Given the description of an element on the screen output the (x, y) to click on. 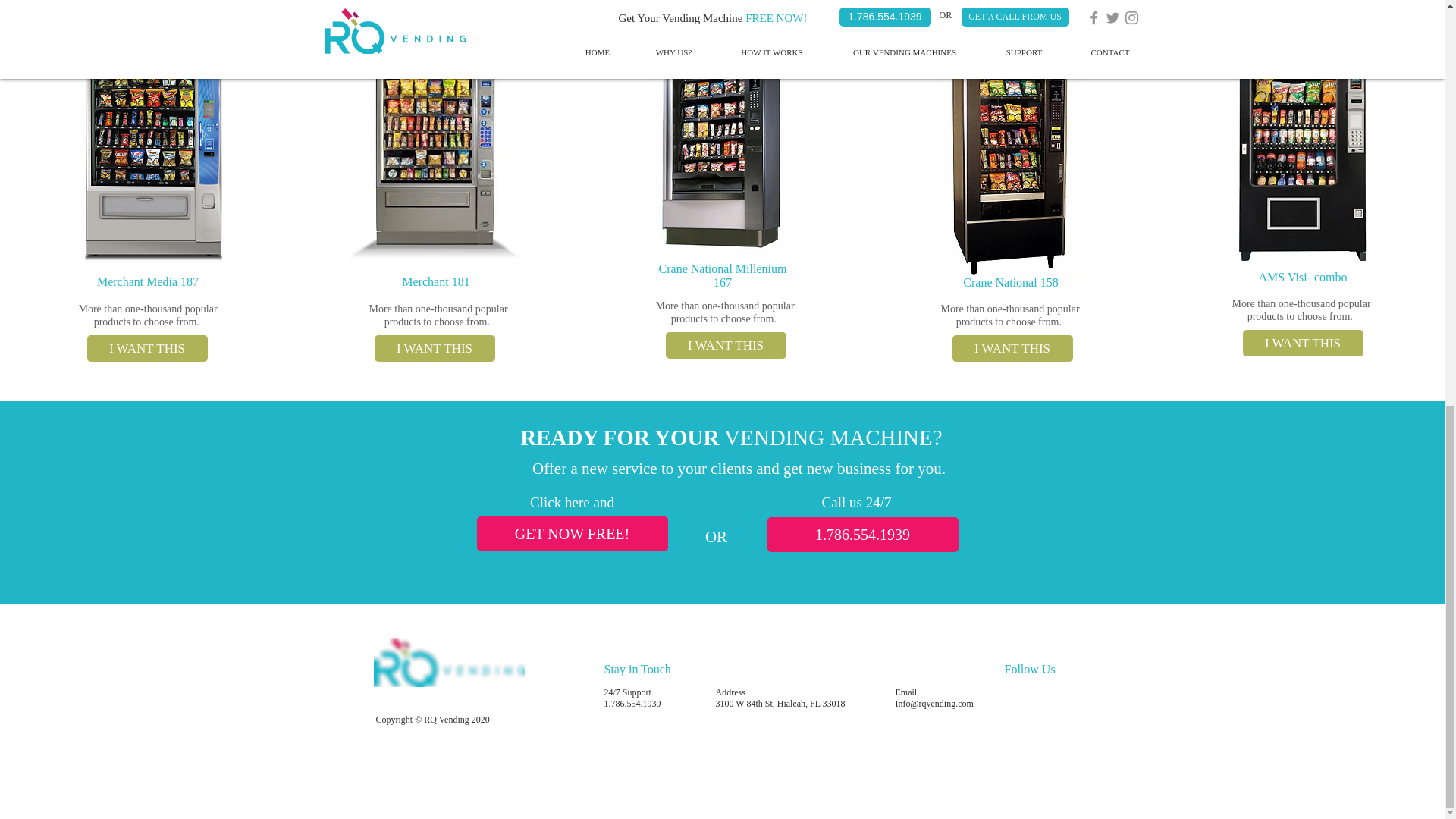
I WANT THIS (434, 347)
I WANT THIS (725, 345)
I WANT THIS (1301, 343)
I WANT THIS (1012, 347)
GET NOW FREE! (571, 533)
1.786.554.1939 (862, 534)
I WANT THIS (145, 347)
